Given the description of an element on the screen output the (x, y) to click on. 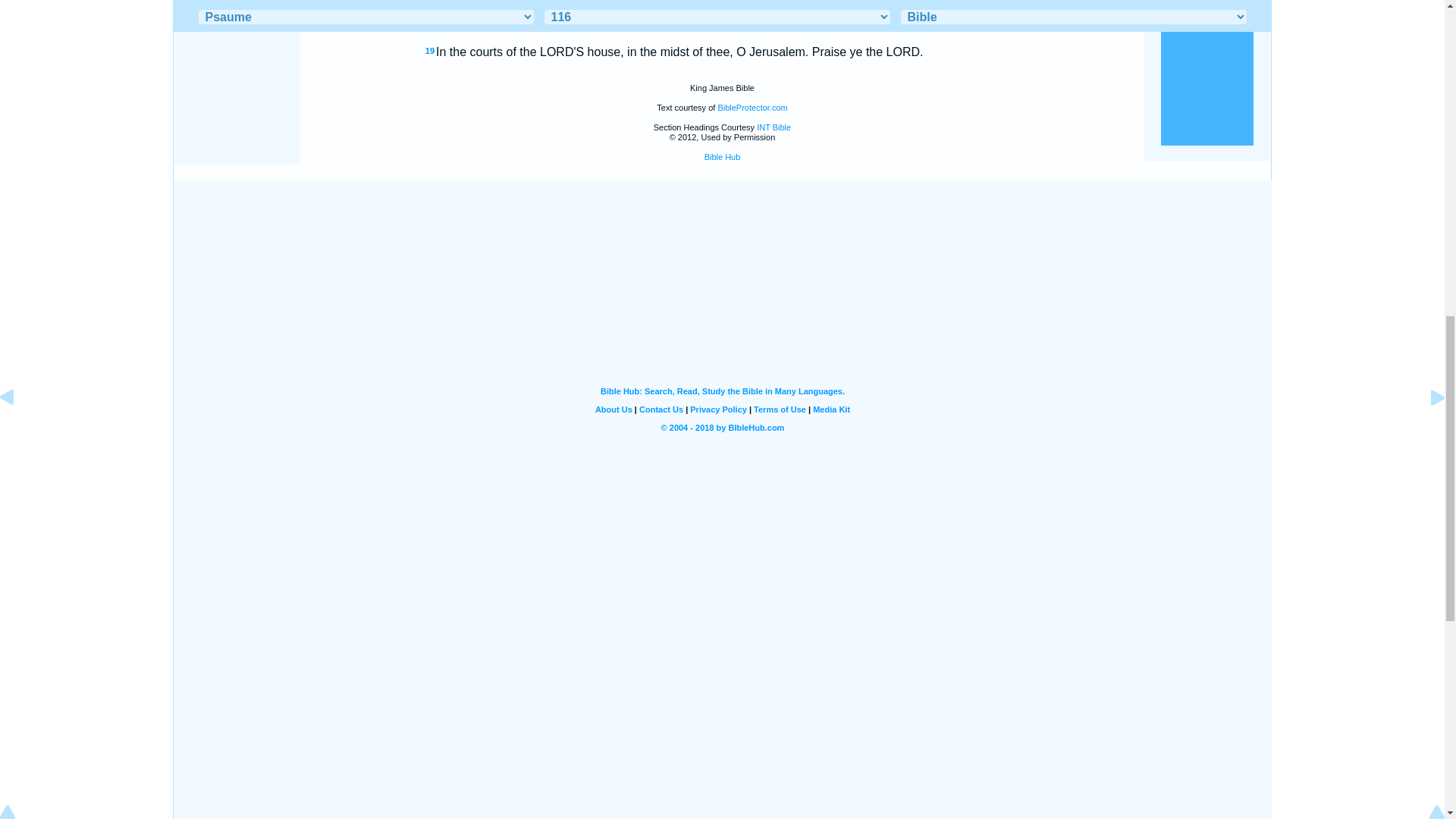
19 (429, 50)
Top of Page (18, 1)
BibleProtector.com (752, 107)
18 (429, 21)
INT Bible (773, 126)
Bible Hub (722, 156)
